Given the description of an element on the screen output the (x, y) to click on. 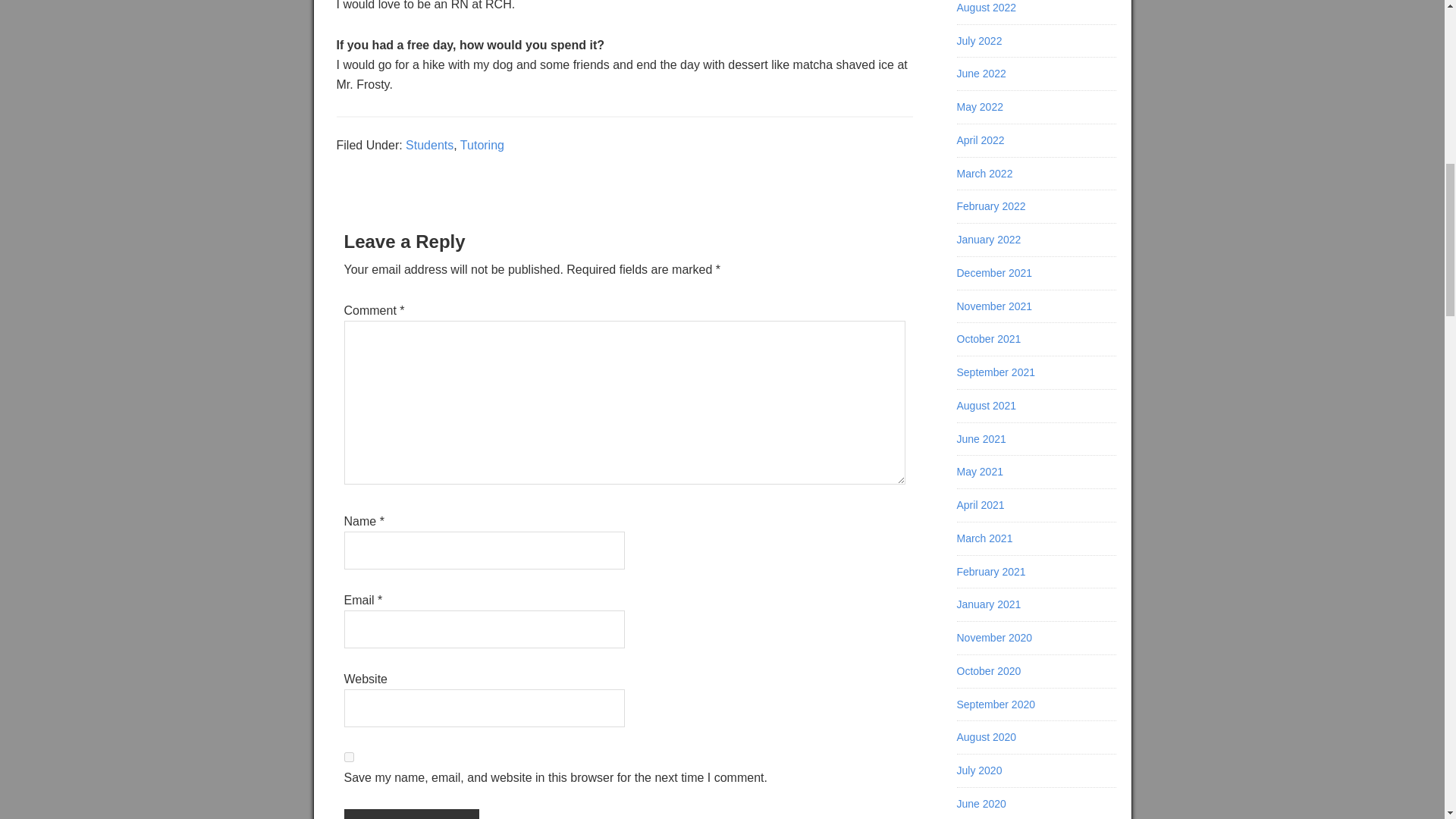
April 2022 (980, 140)
August 2022 (986, 7)
January 2022 (989, 239)
Post Comment (411, 814)
February 2022 (991, 205)
Students (429, 144)
June 2021 (981, 439)
Tutoring (481, 144)
July 2022 (979, 40)
March 2022 (984, 173)
